Given the description of an element on the screen output the (x, y) to click on. 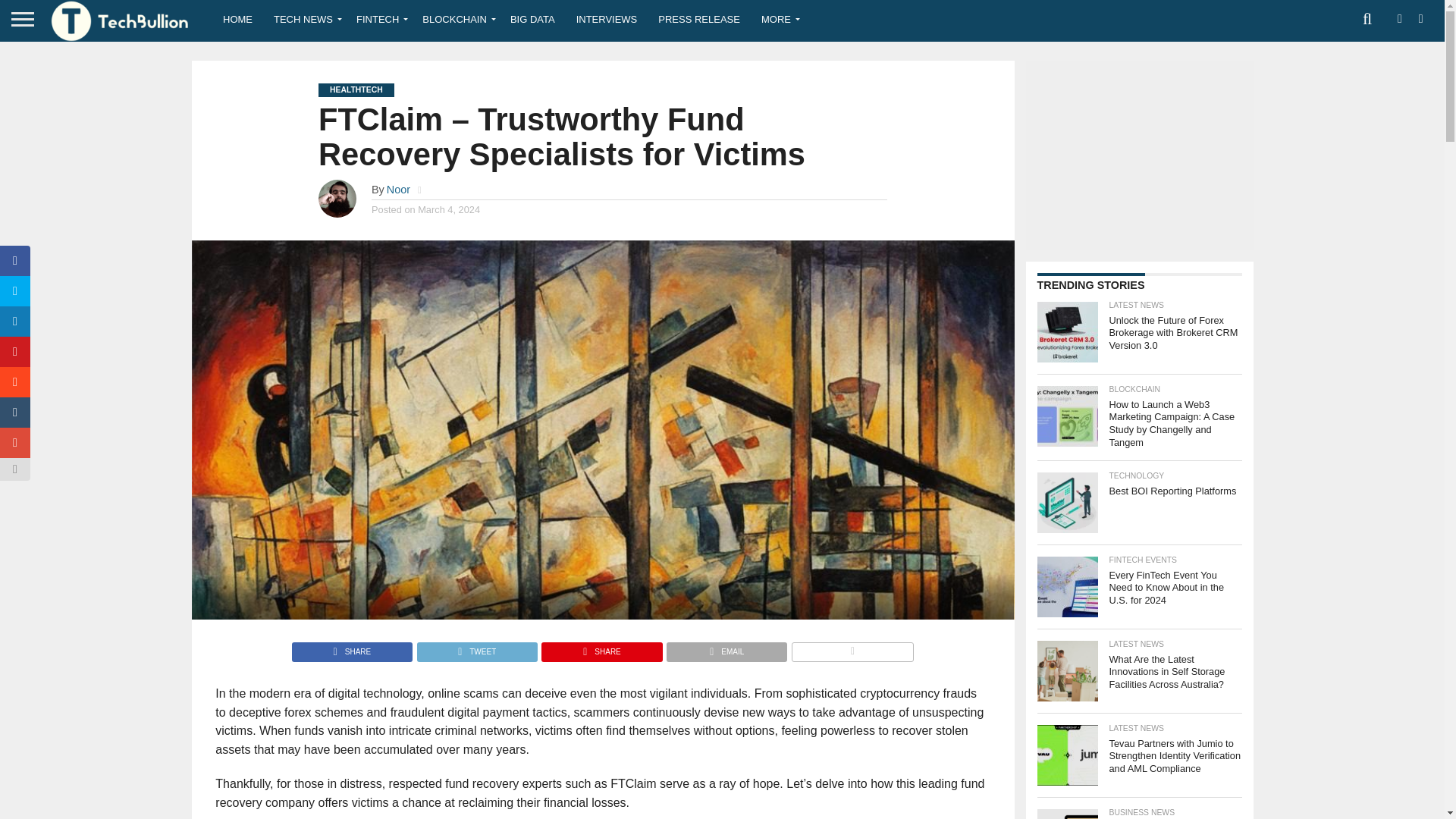
Posts by Noor (398, 189)
Share on Facebook (352, 647)
Tweet This Post (476, 647)
Pin This Post (601, 647)
